Given the description of an element on the screen output the (x, y) to click on. 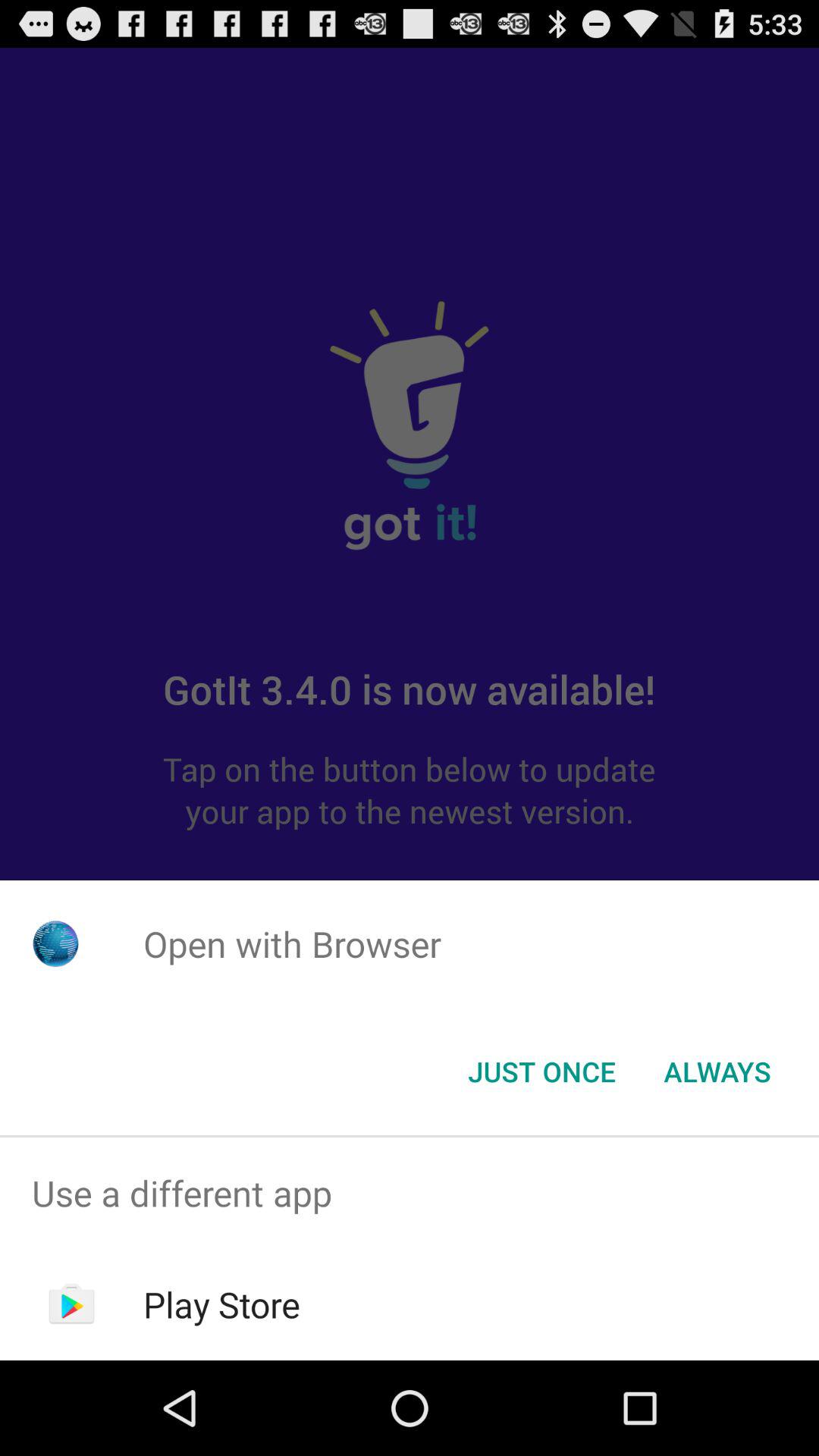
select app below the open with browser icon (541, 1071)
